Given the description of an element on the screen output the (x, y) to click on. 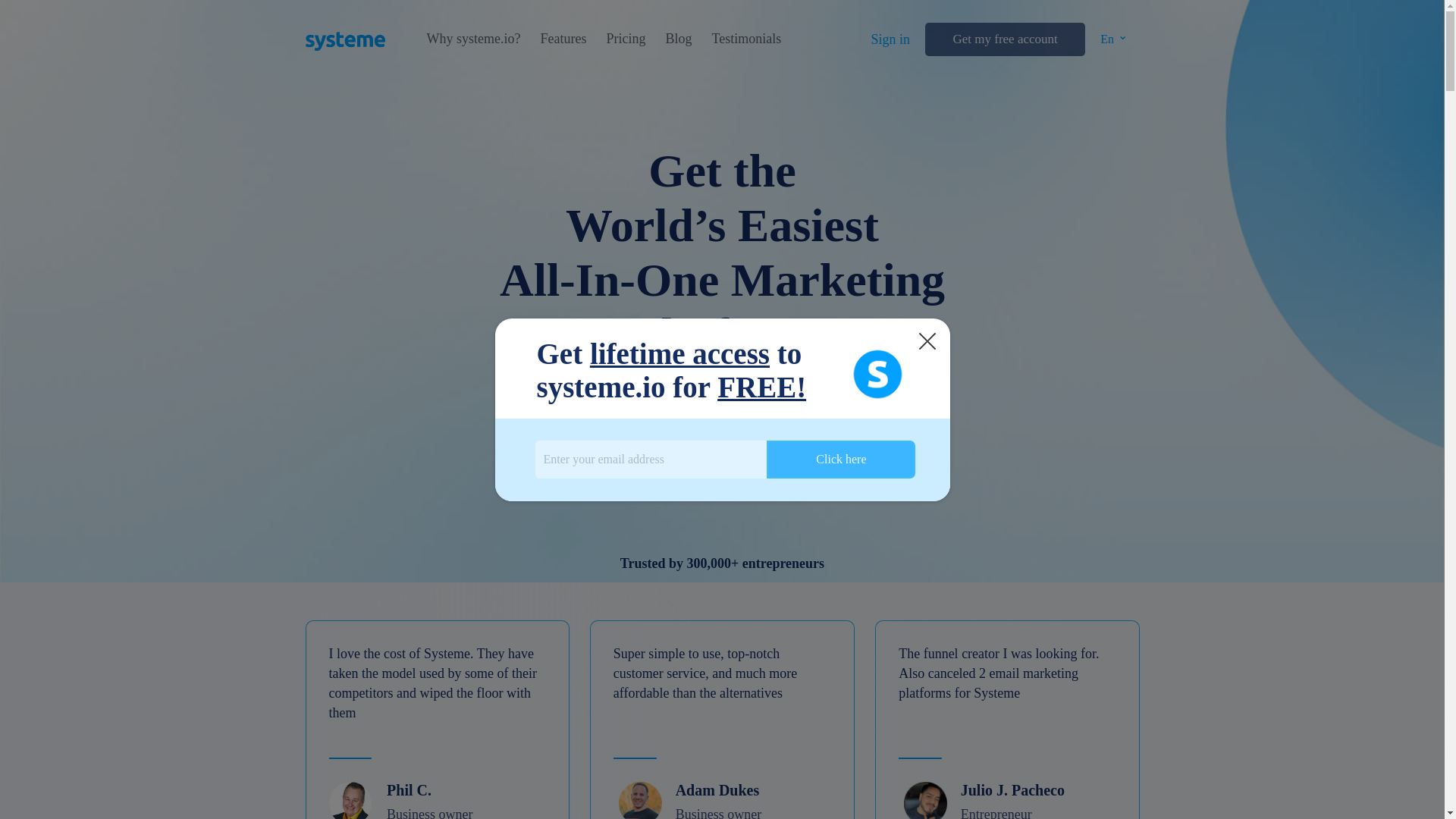
Testimonials (745, 38)
Pricing (625, 38)
Get my free account (1004, 39)
Sign in (890, 39)
Why systeme.io? (472, 38)
Blog (678, 38)
Features (563, 38)
